Given the description of an element on the screen output the (x, y) to click on. 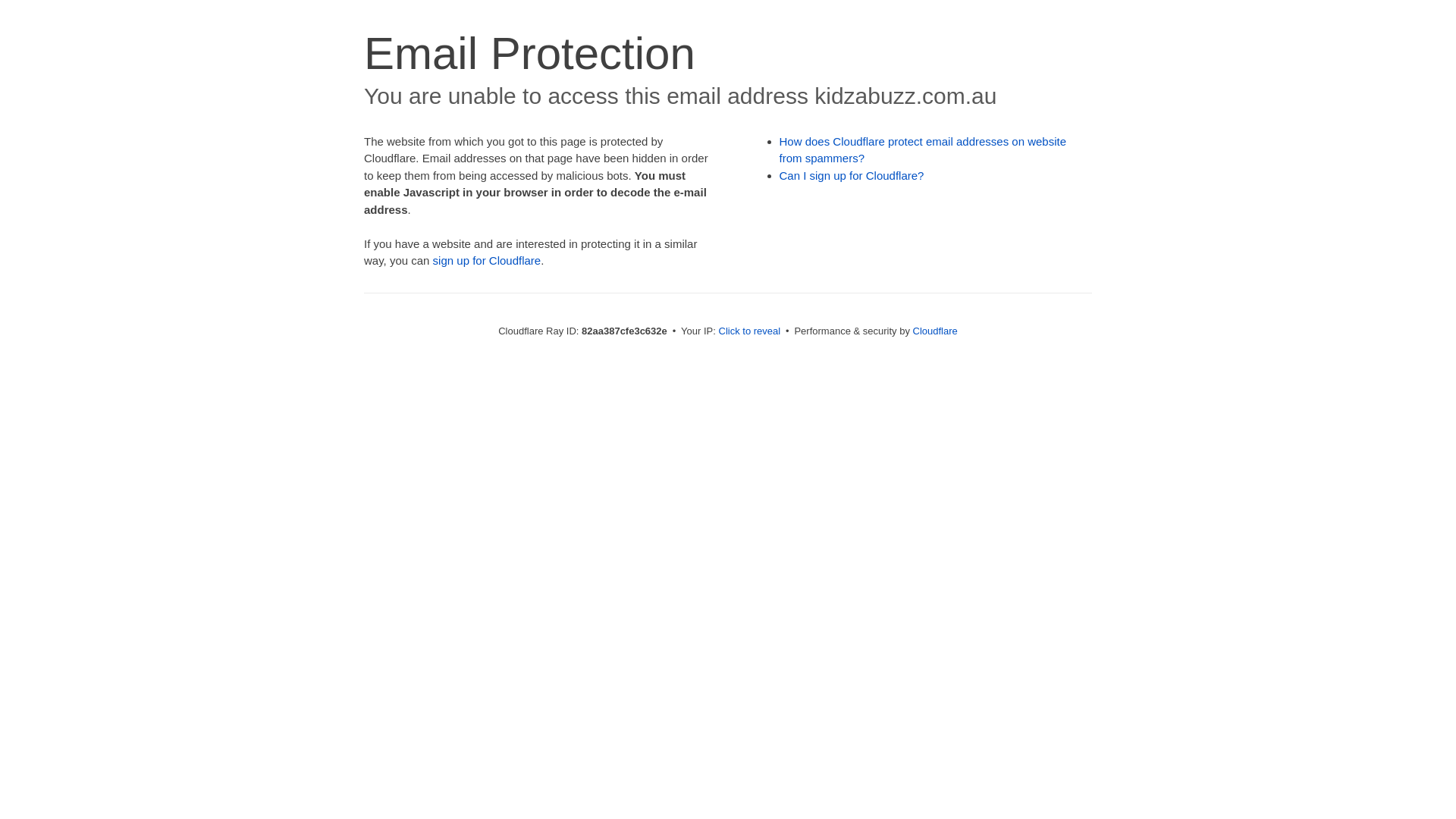
Cloudflare Element type: text (935, 330)
Can I sign up for Cloudflare? Element type: text (851, 175)
Click to reveal Element type: text (749, 330)
sign up for Cloudflare Element type: text (487, 260)
